Given the description of an element on the screen output the (x, y) to click on. 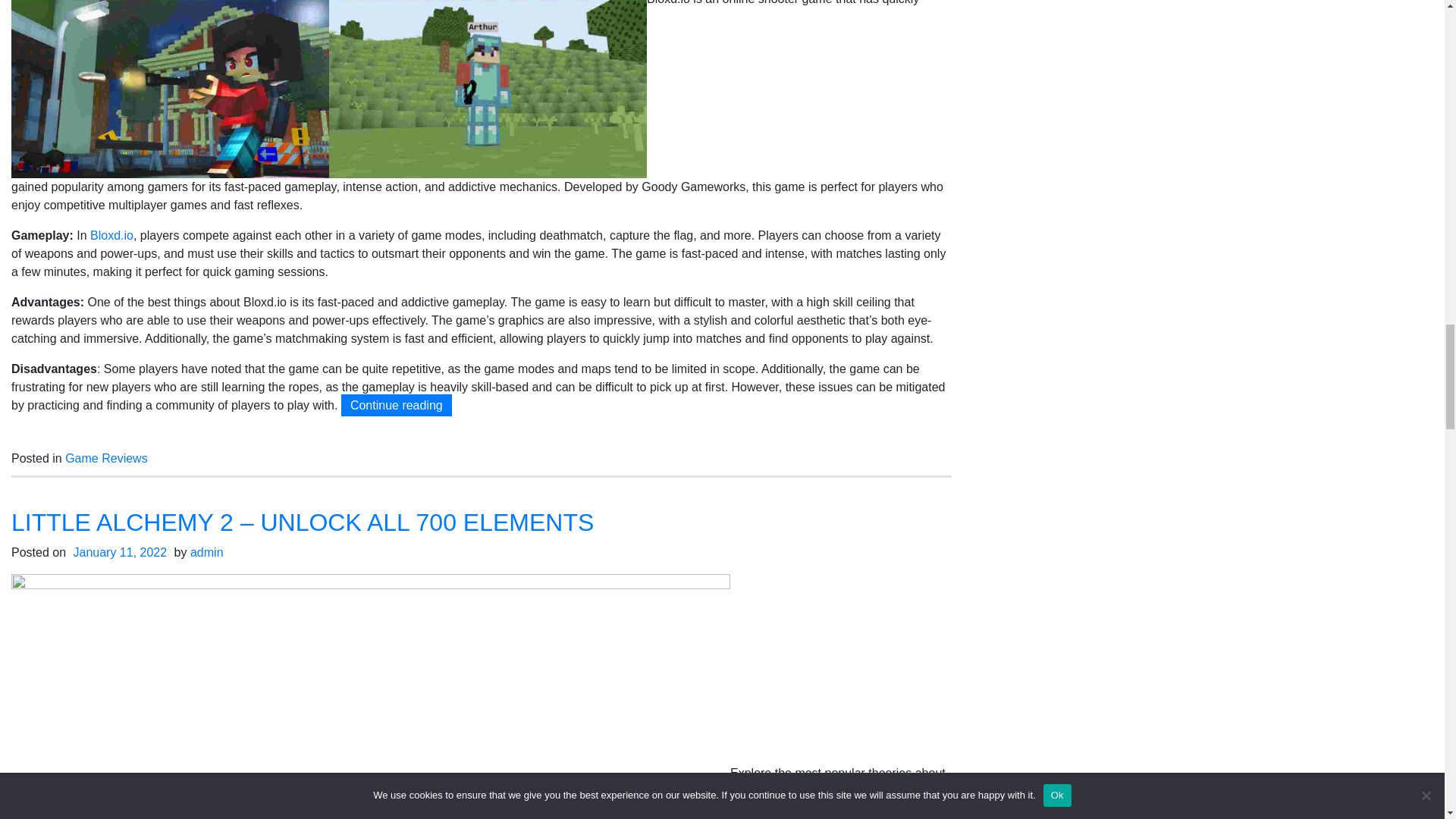
Bloxd.io (111, 235)
